Given the description of an element on the screen output the (x, y) to click on. 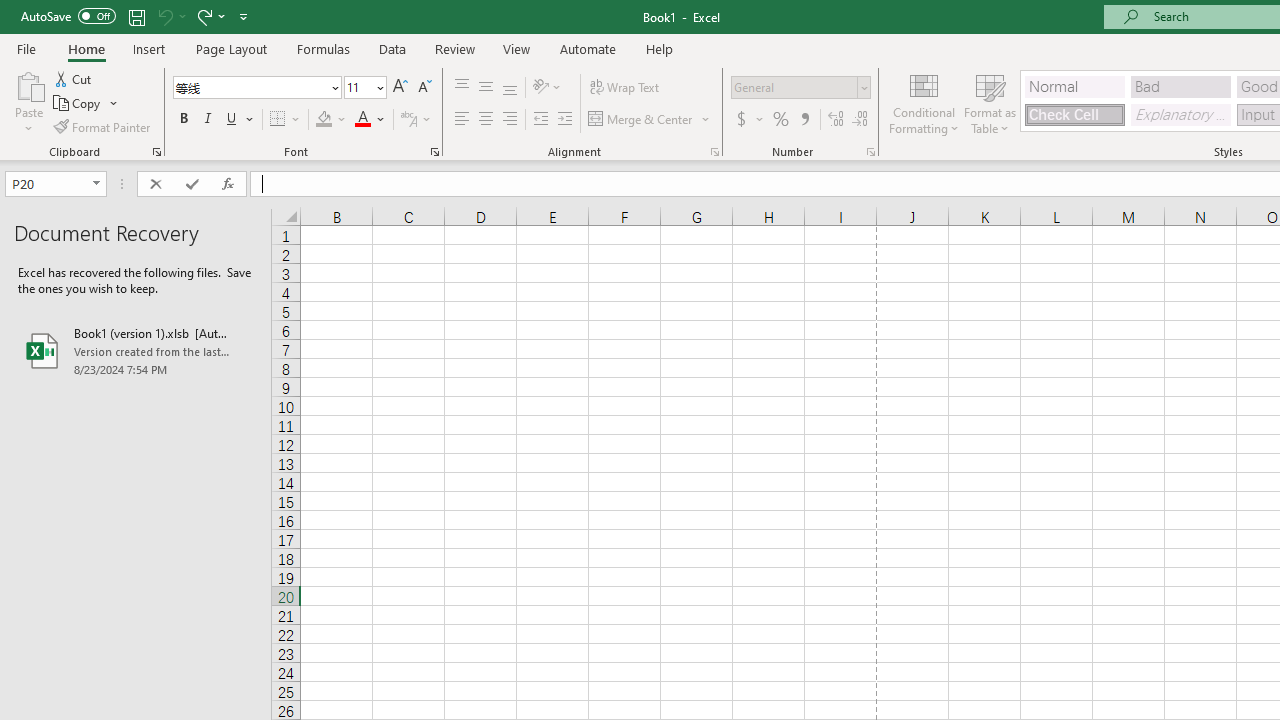
Number Format (794, 87)
Format Cell Number (870, 151)
Comma Style (804, 119)
Font Size (365, 87)
Format Cell Font (434, 151)
Increase Font Size (399, 87)
Bad (1180, 86)
Underline (232, 119)
Merge & Center (641, 119)
Borders (285, 119)
Merge & Center (649, 119)
Underline (239, 119)
